Given the description of an element on the screen output the (x, y) to click on. 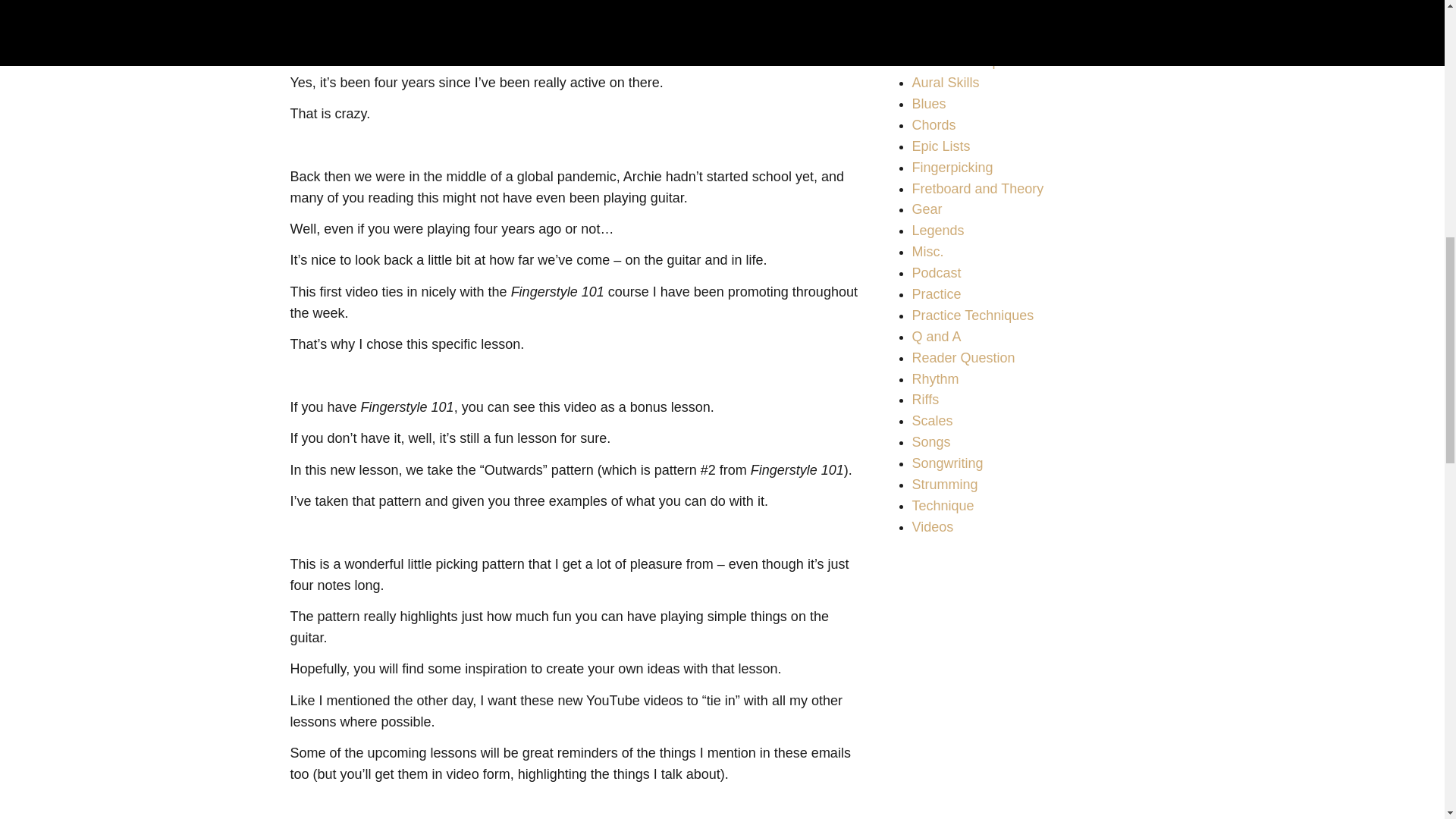
Chords (933, 124)
Songwriting (946, 462)
10-Second Tips (958, 61)
Aural Skills (944, 82)
Scales (931, 420)
Podcast (935, 272)
Q and A (935, 336)
Riffs (925, 399)
Strumming (943, 484)
Misc. (927, 251)
